Given the description of an element on the screen output the (x, y) to click on. 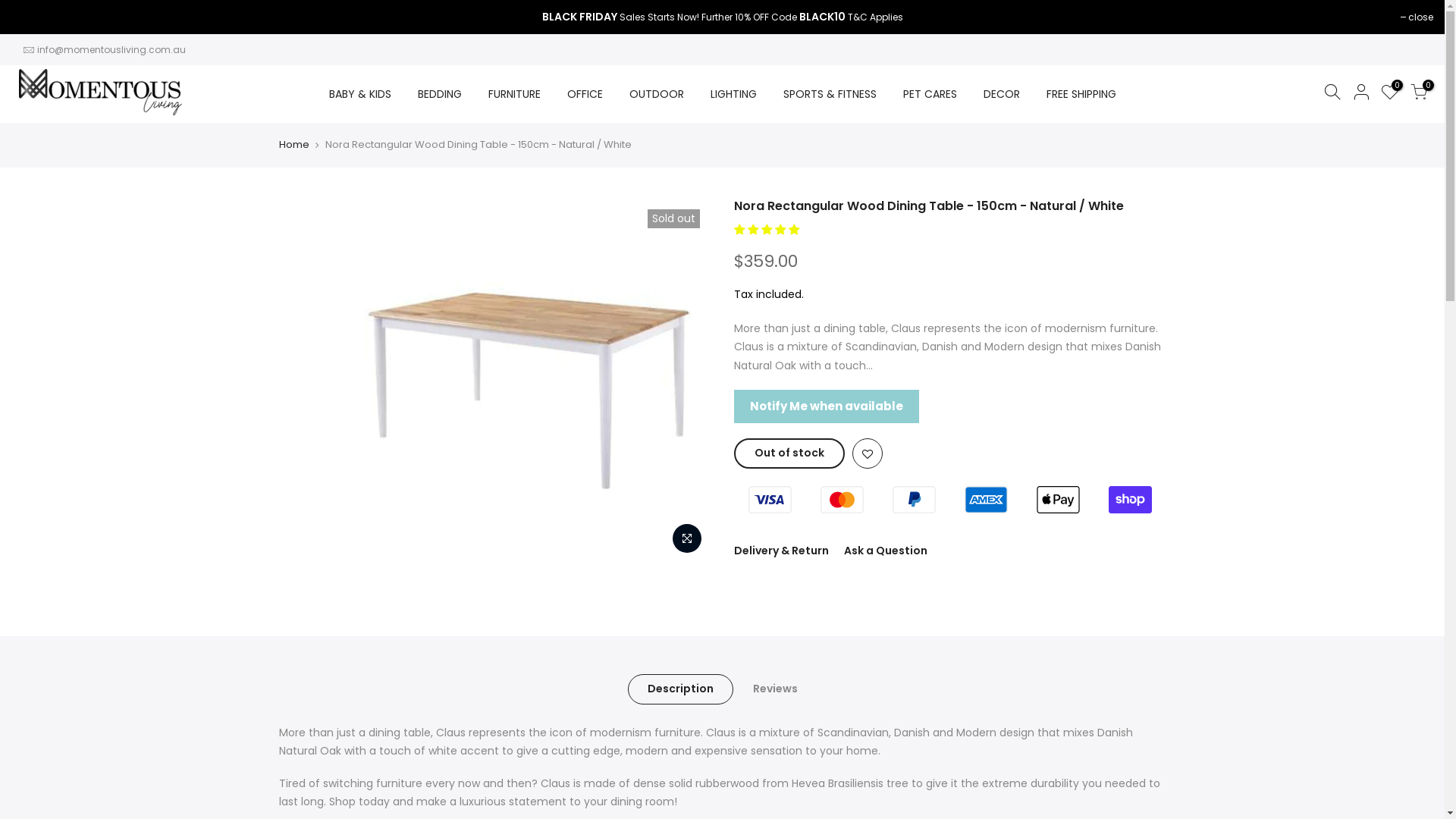
FREE SHIPPING Element type: text (1080, 93)
OUTDOOR Element type: text (655, 93)
OFFICE Element type: text (584, 93)
Ask a Question Element type: text (884, 550)
0 Element type: text (1418, 94)
close Element type: text (1416, 16)
Delivery & Return Element type: text (781, 550)
Out of stock Element type: text (789, 453)
FURNITURE Element type: text (513, 93)
0 Element type: text (1389, 94)
BEDDING Element type: text (439, 93)
LIGHTING Element type: text (732, 93)
DECOR Element type: text (1000, 93)
info@momentousliving.com.au Element type: text (111, 48)
Notify Me when available Element type: text (826, 406)
Description Element type: text (680, 689)
PET CARES Element type: text (929, 93)
Home Element type: text (294, 144)
SPORTS & FITNESS Element type: text (829, 93)
Reviews Element type: text (774, 689)
BABY & KIDS Element type: text (359, 93)
